Given the description of an element on the screen output the (x, y) to click on. 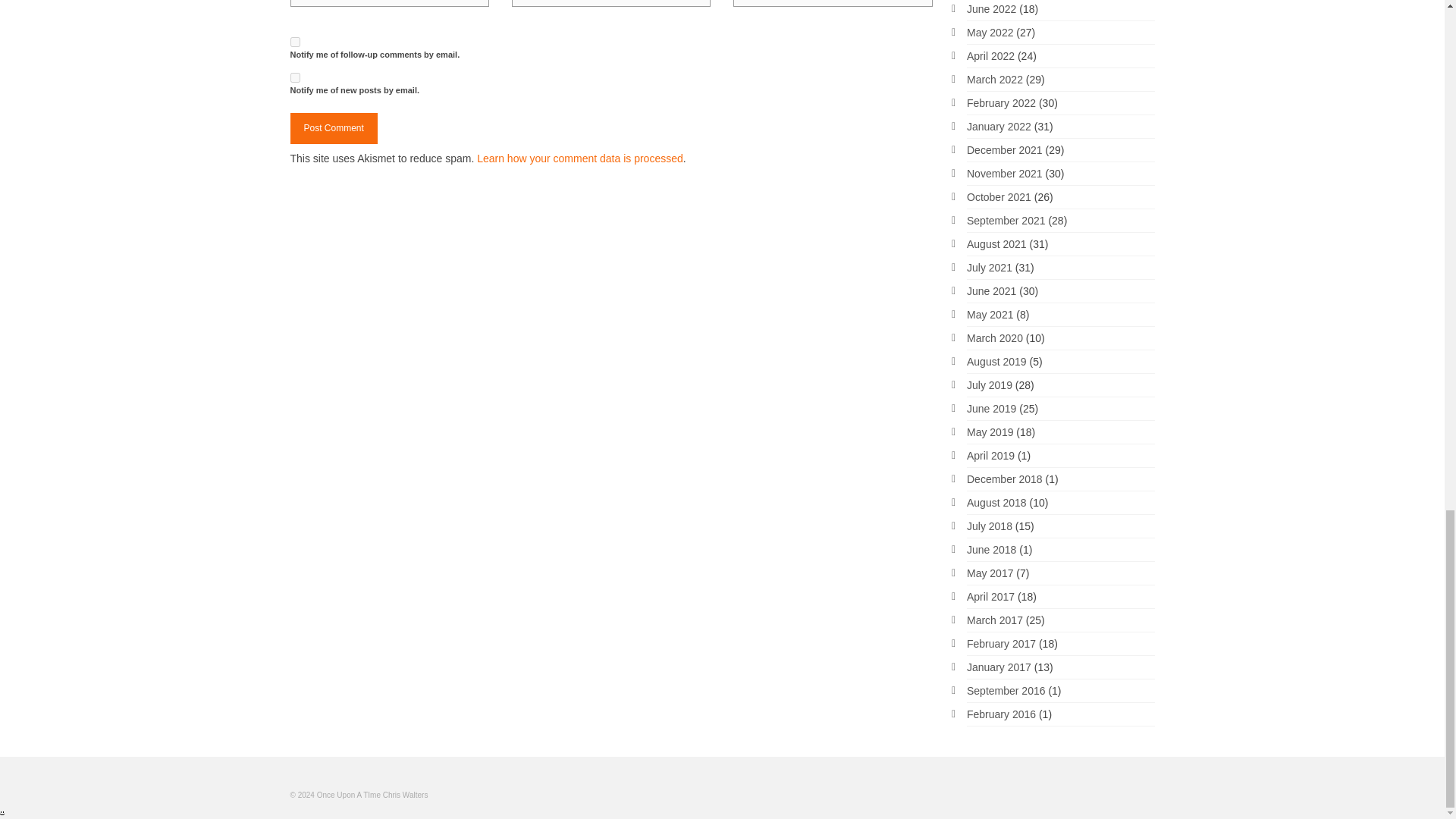
subscribe (294, 77)
Learn how your comment data is processed (579, 158)
subscribe (294, 41)
Post Comment (333, 128)
Post Comment (333, 128)
